Given the description of an element on the screen output the (x, y) to click on. 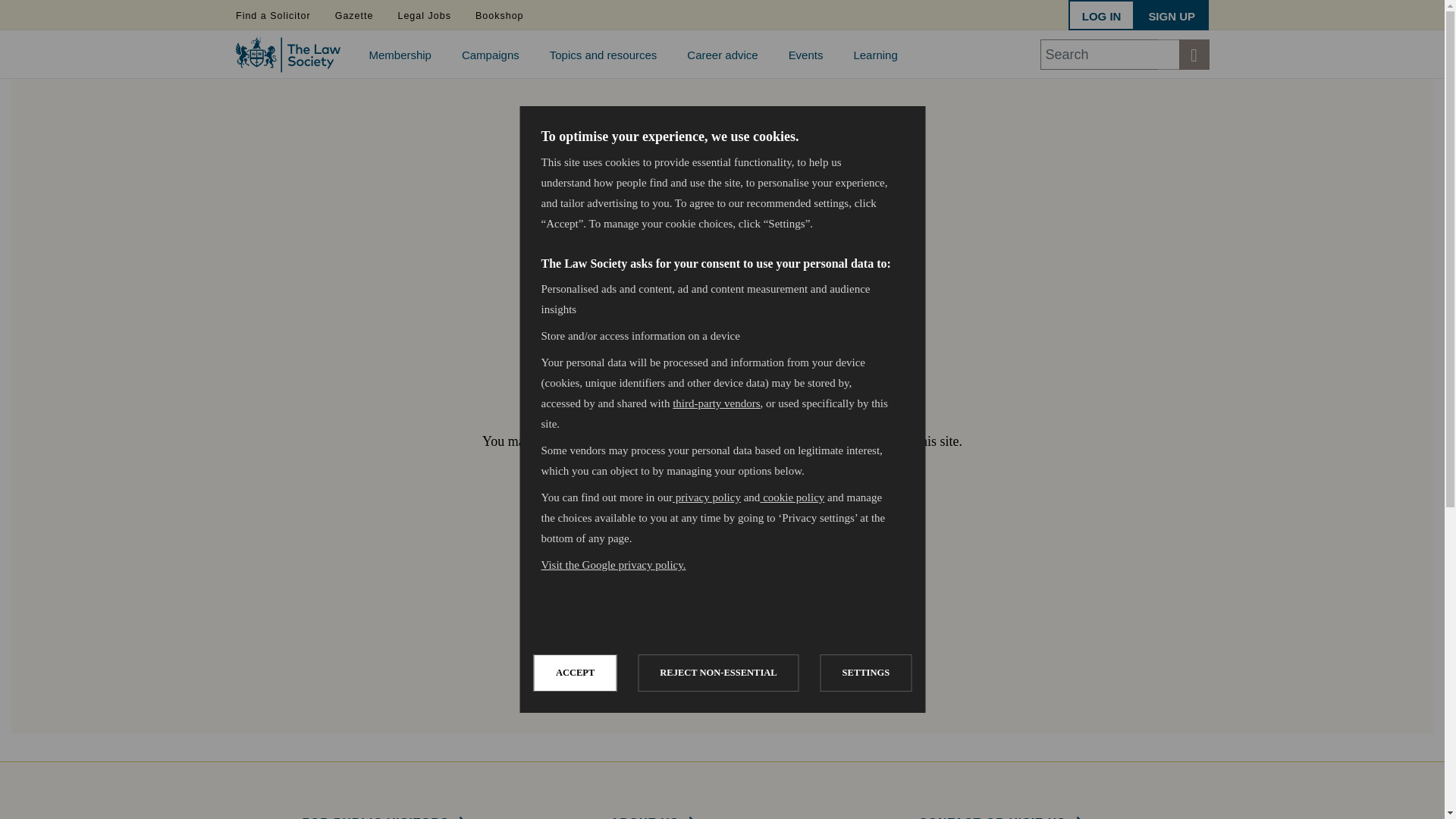
Legal Jobs (424, 15)
Bookshop (499, 15)
